Given the description of an element on the screen output the (x, y) to click on. 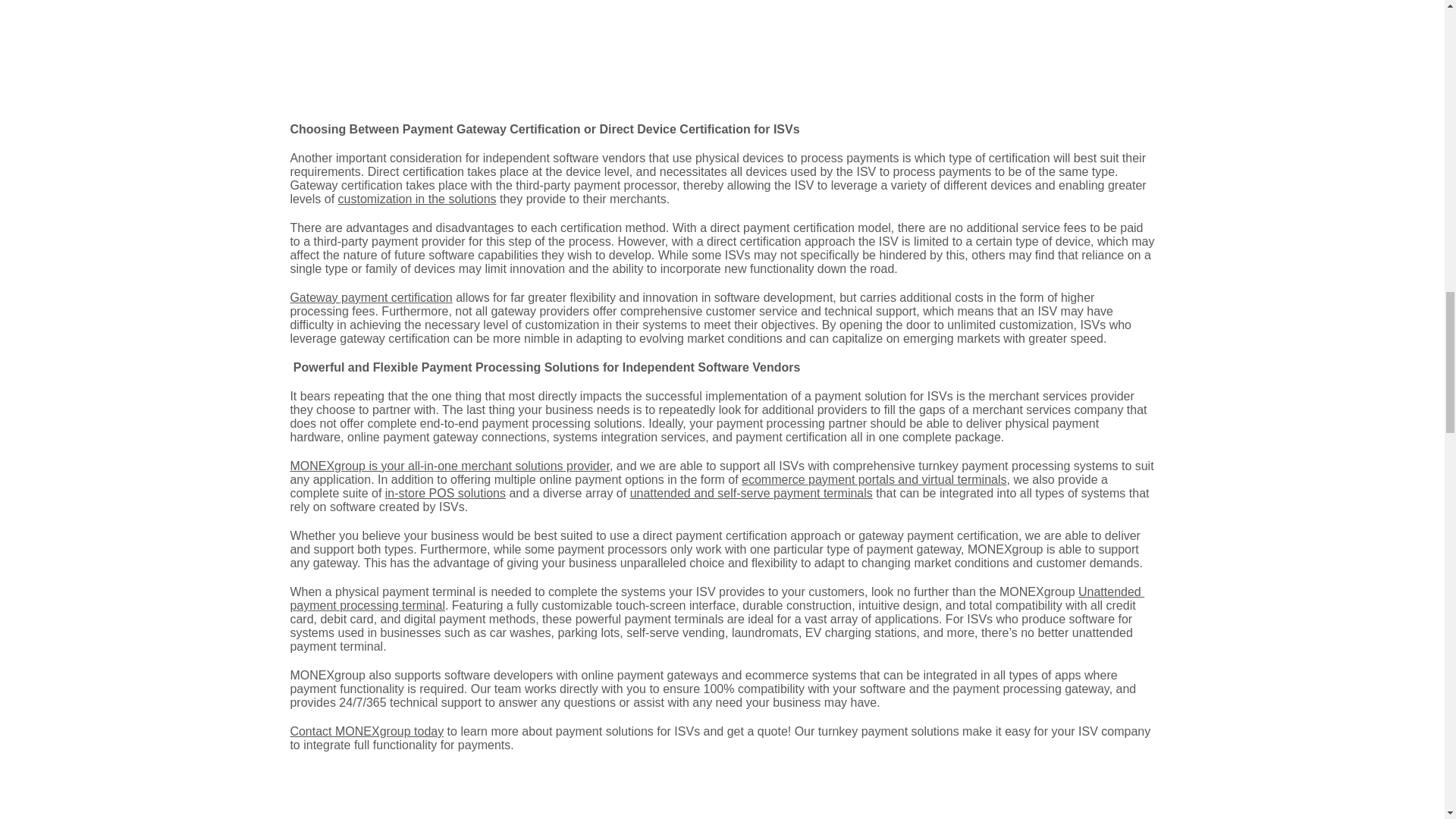
ecommerce payment portals and virtual terminals (873, 479)
MONEXgroup is your all-in-one merchant solutions provider (449, 465)
in-store POS solutions (445, 492)
unattended and self-serve payment terminals (751, 492)
Contact MONEXgroup today (366, 730)
Gateway payment certification (370, 297)
Unattended  payment processing terminal (716, 598)
customization in the solutions (416, 198)
